Given the description of an element on the screen output the (x, y) to click on. 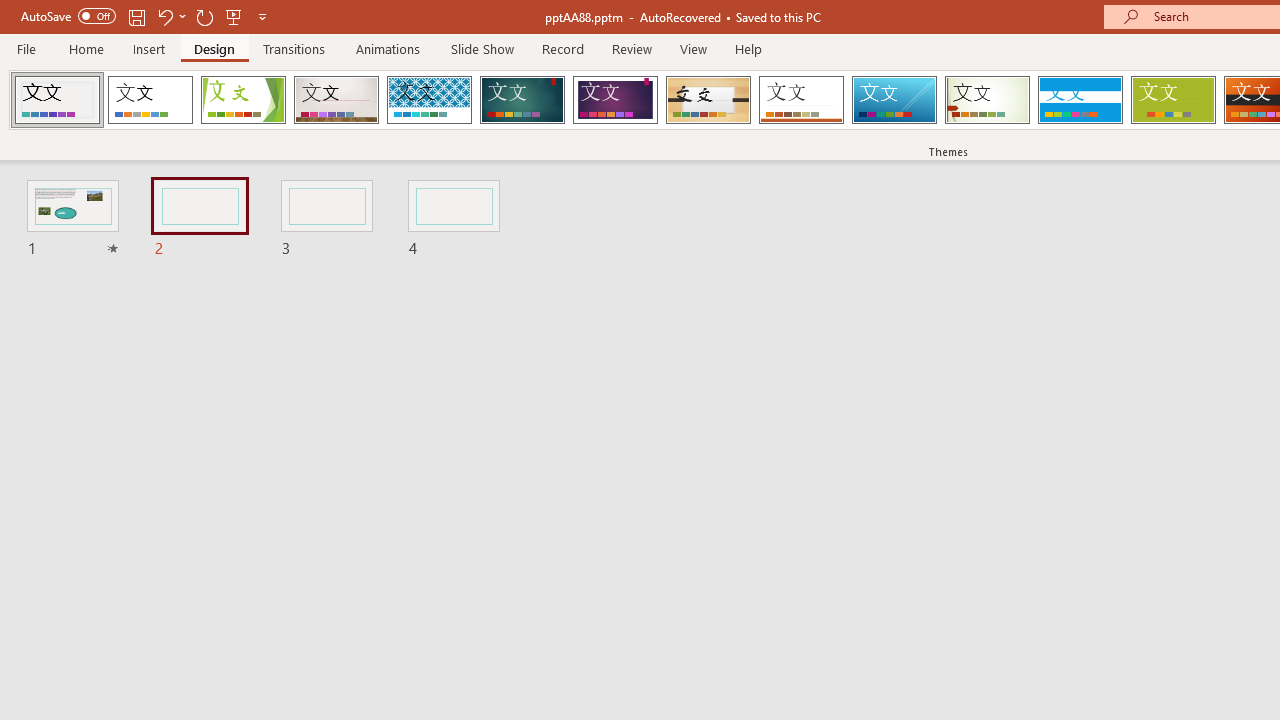
LimelightVTI (57, 100)
Integral Loading Preview... (429, 100)
Banded Loading Preview... (1080, 100)
Wisp Loading Preview... (987, 100)
